Given the description of an element on the screen output the (x, y) to click on. 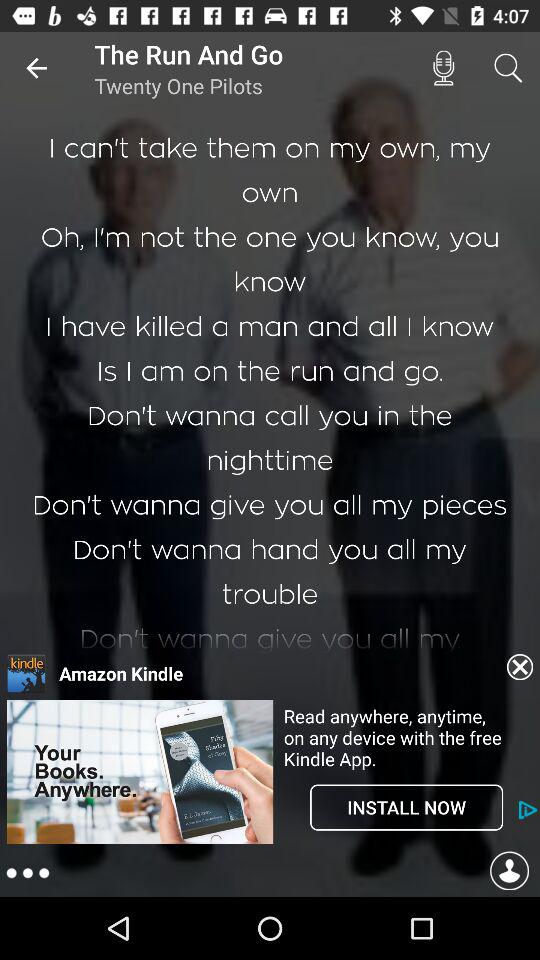
advertisement area (139, 771)
